Given the description of an element on the screen output the (x, y) to click on. 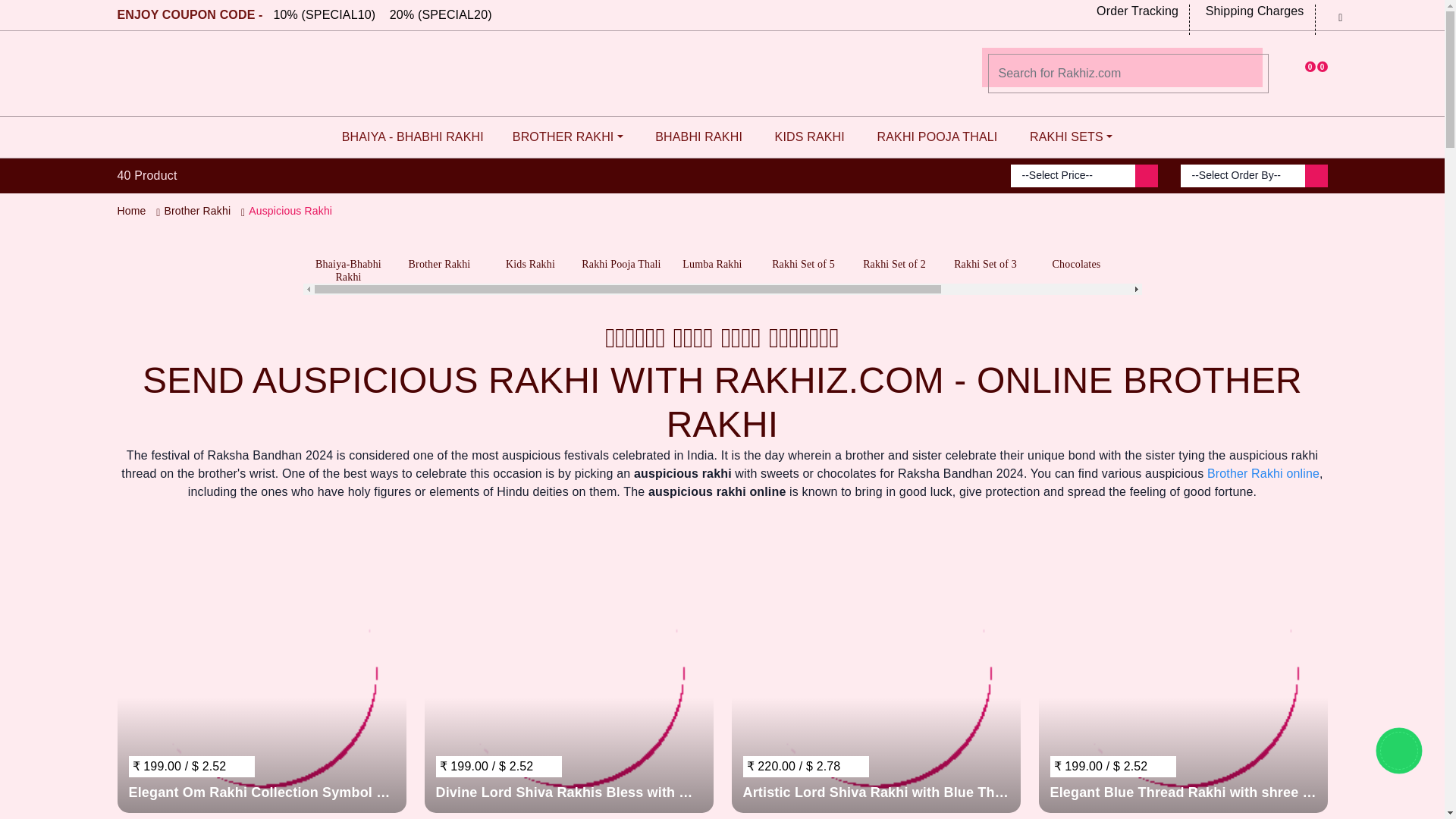
Rakhi Set of 5 (803, 250)
Rakhi Pooja Thali (621, 250)
BHABHI RAKHI (695, 137)
Rakhi Set of 2 (894, 250)
RAKHI POOJA THALI (933, 137)
Brother Rakhi (196, 210)
Lumba Rakhi (712, 250)
Shipping Charges (1252, 14)
Kids Rakhi (530, 250)
Shipping Charges (1252, 14)
